Given the description of an element on the screen output the (x, y) to click on. 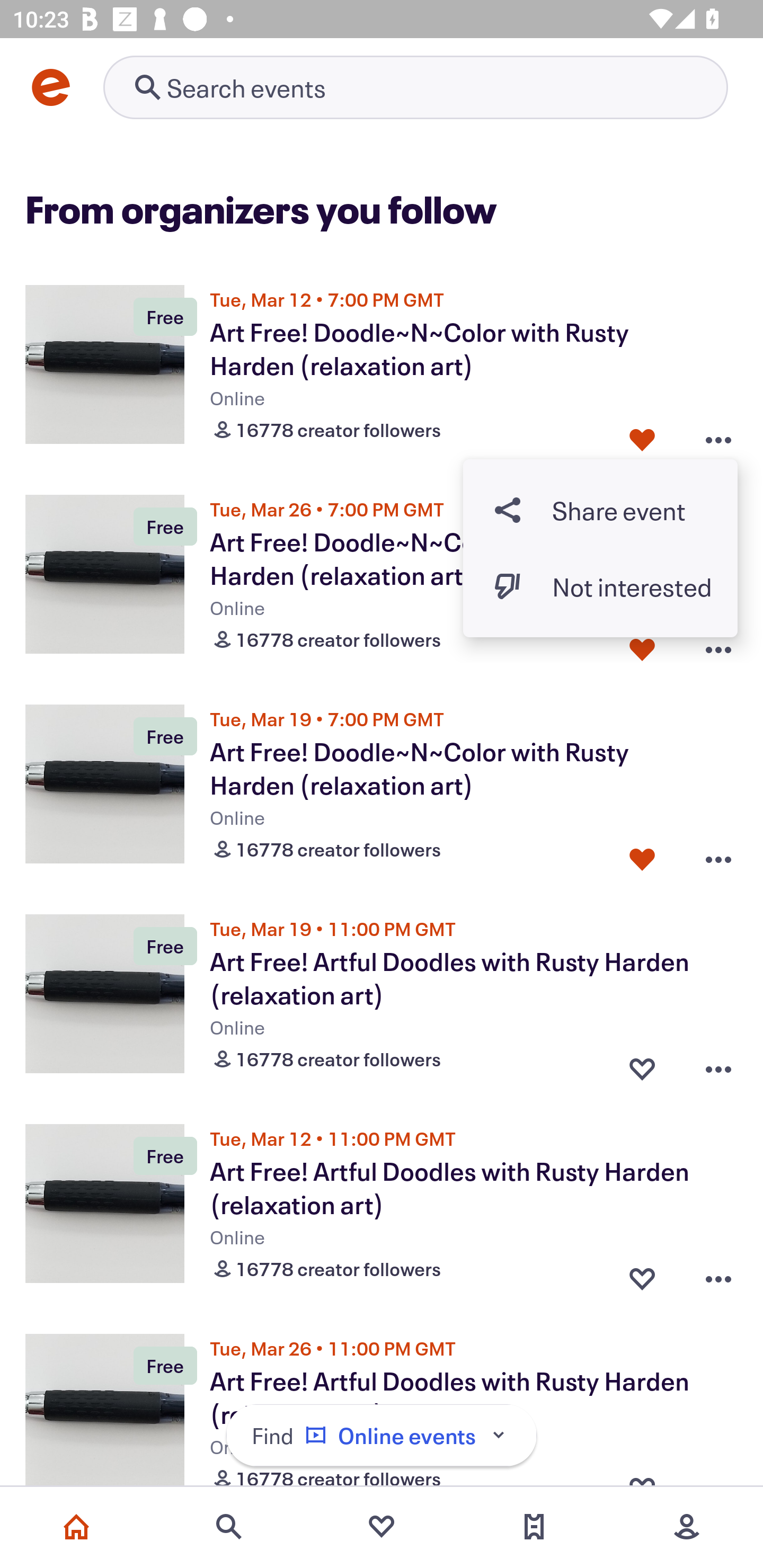
Share button Share event (600, 509)
Dislike event button Not interested (600, 586)
